Given the description of an element on the screen output the (x, y) to click on. 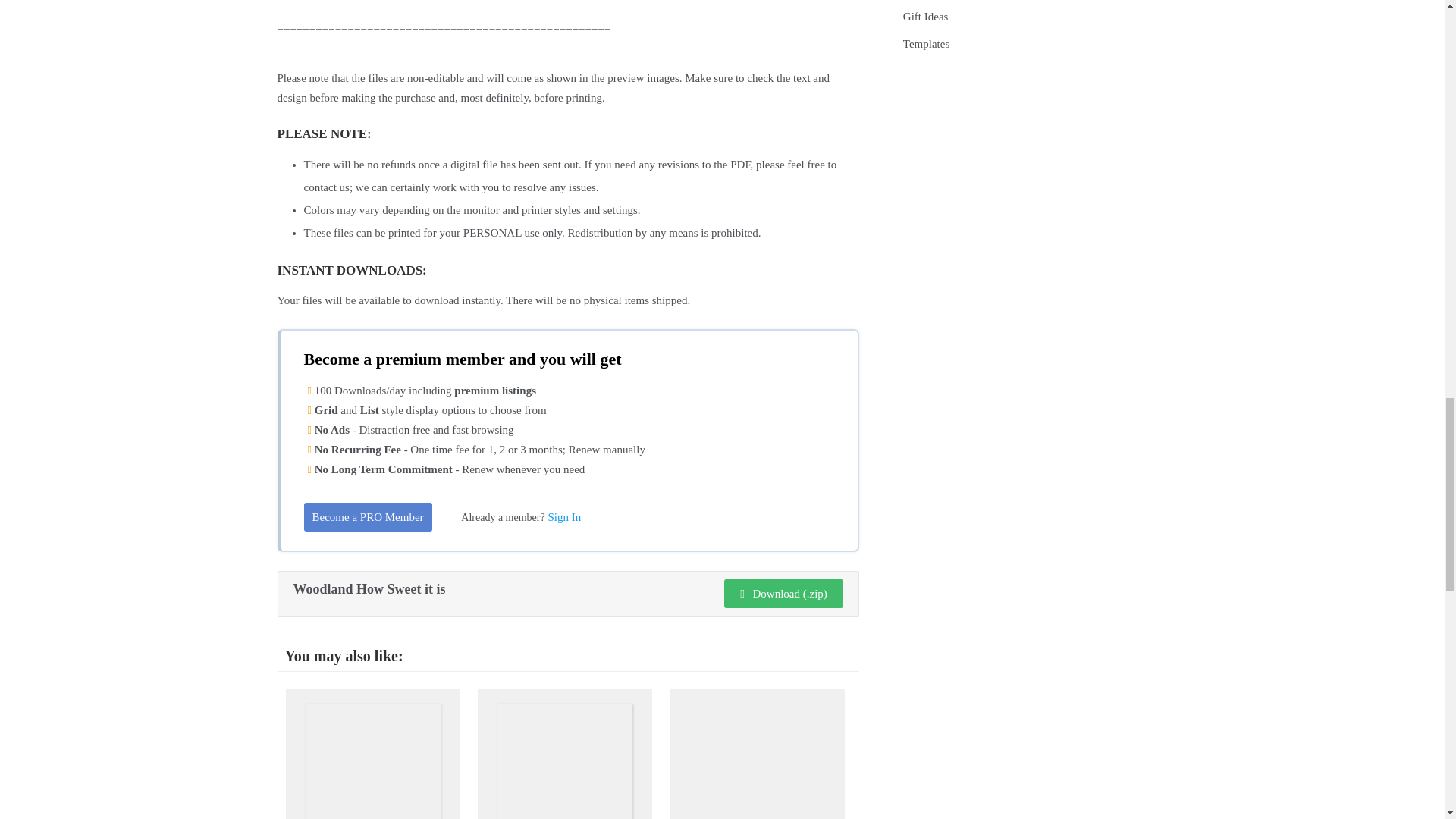
Sign In (563, 517)
Become a PRO Member (366, 516)
